Given the description of an element on the screen output the (x, y) to click on. 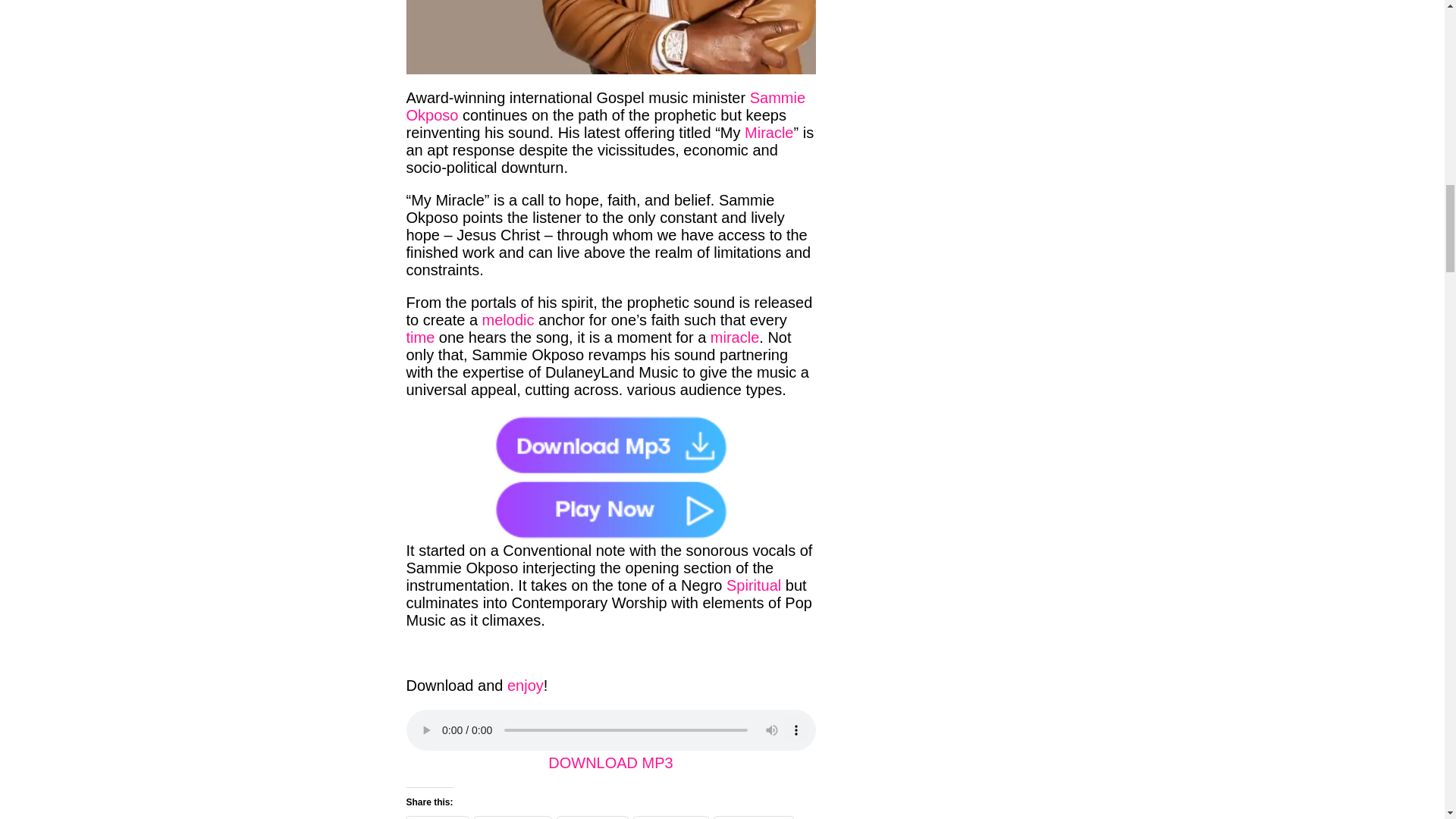
Click to share on Telegram (670, 817)
Click to share on WhatsApp (753, 817)
Click to share on LinkedIn (592, 817)
Click to share on Facebook (512, 817)
Click to share on Twitter (437, 817)
